Given the description of an element on the screen output the (x, y) to click on. 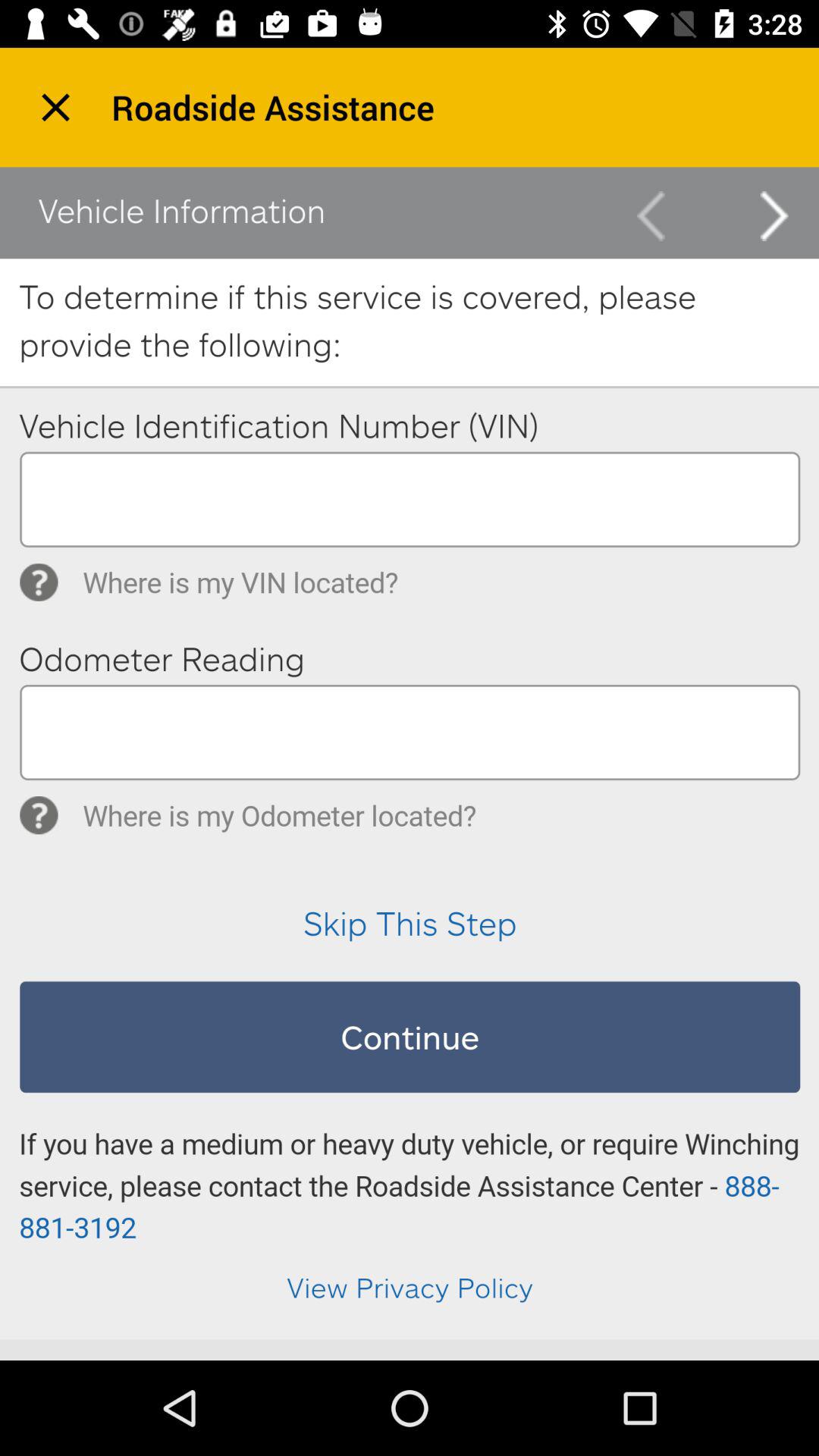
enter vehicle information (409, 753)
